Given the description of an element on the screen output the (x, y) to click on. 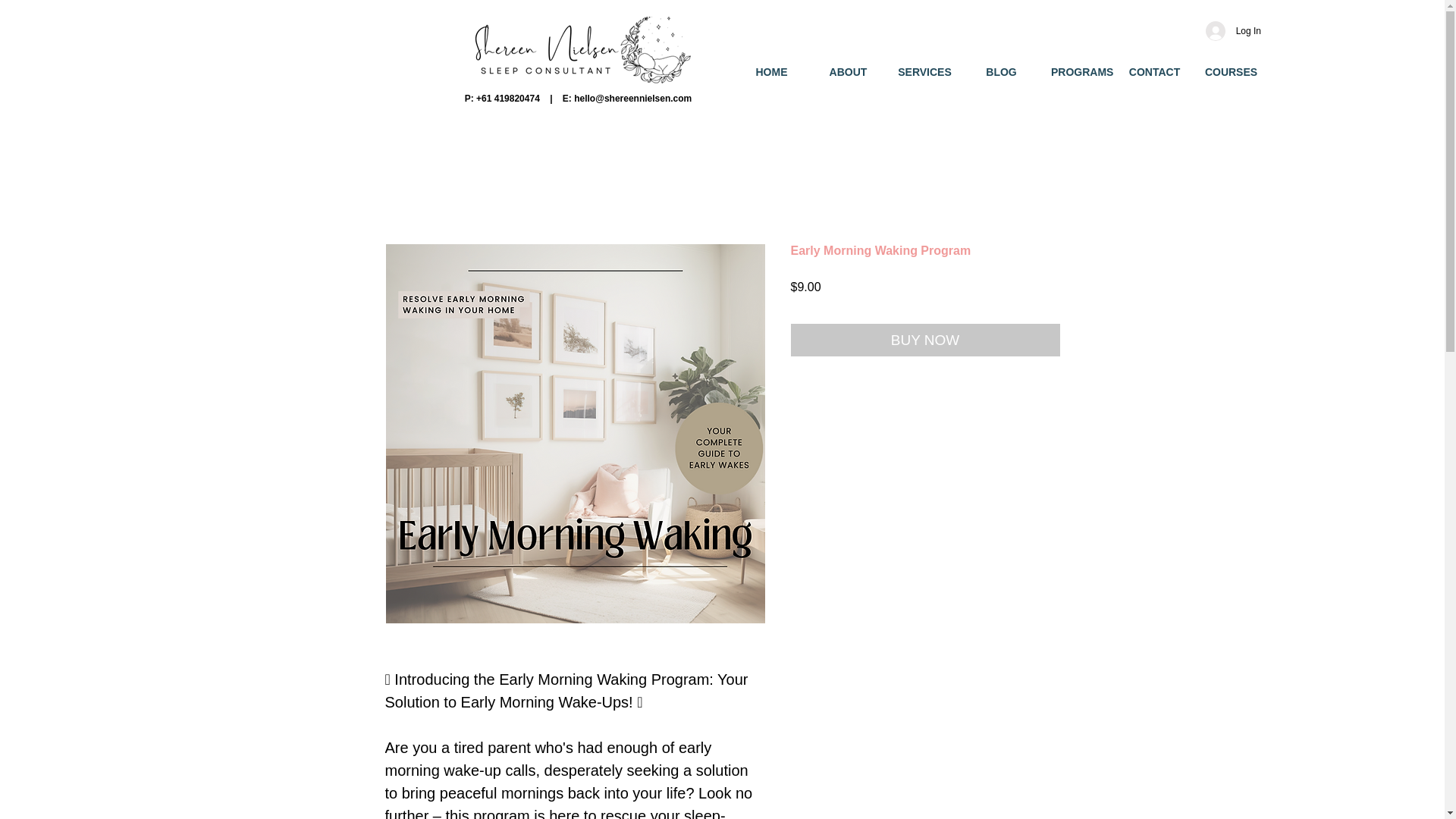
BUY NOW (924, 339)
BLOG (1000, 71)
ABOUT (847, 71)
Log In (1233, 30)
HOME (771, 71)
PROGRAMS (1077, 71)
SERVICES (924, 71)
COURSES (1230, 71)
CONTACT (1154, 71)
